Given the description of an element on the screen output the (x, y) to click on. 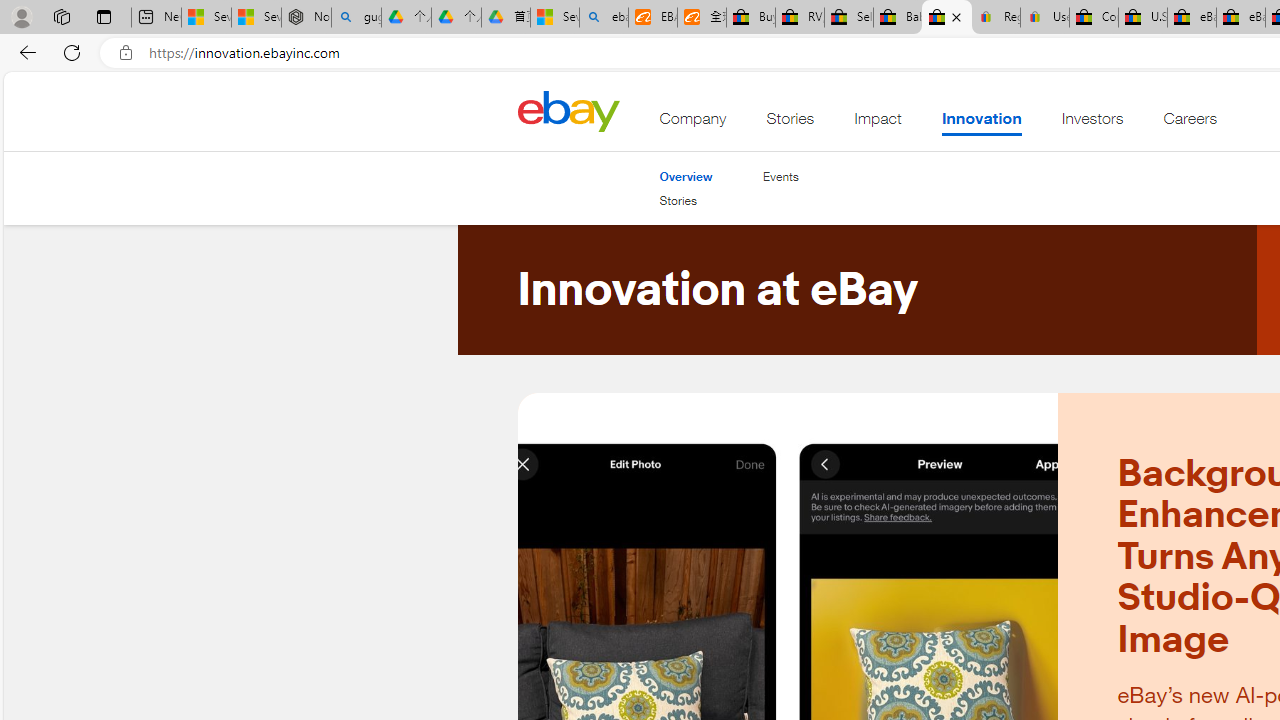
Investors (1092, 123)
Stories (678, 200)
Sell worldwide with eBay (848, 17)
Home (568, 110)
Baby Keepsakes & Announcements for sale | eBay (897, 17)
Class: desktop (568, 110)
Impact (877, 123)
Careers (1190, 123)
Consumer Health Data Privacy Policy - eBay Inc. (1093, 17)
Home (568, 110)
